Given the description of an element on the screen output the (x, y) to click on. 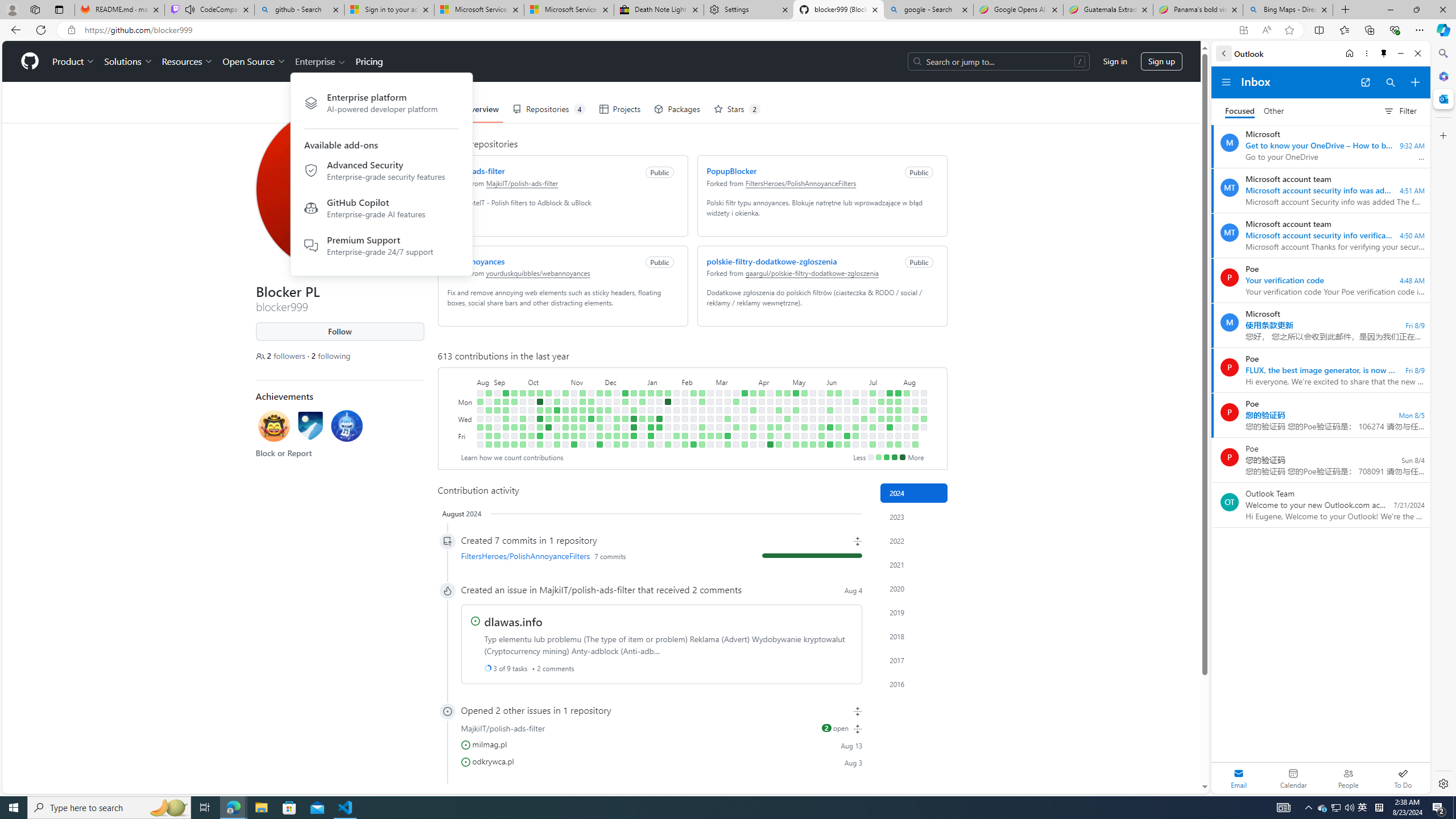
2 contributions on June 22nd. (846, 444)
No contributions on January 5th. (642, 435)
Unpin side pane (1383, 53)
Achievements (283, 395)
Projects (619, 108)
1 contribution on December 31st. (642, 392)
No contributions on June 16th. (846, 392)
No contributions on February 5th. (684, 401)
No contributions on May 21st. (812, 410)
1 contribution on September 5th. (496, 410)
No contributions on December 30th. (633, 444)
March (735, 380)
5 contributions on February 19th. (701, 401)
GitHub Copilot Enterprise-grade AI features (381, 209)
